Given the description of an element on the screen output the (x, y) to click on. 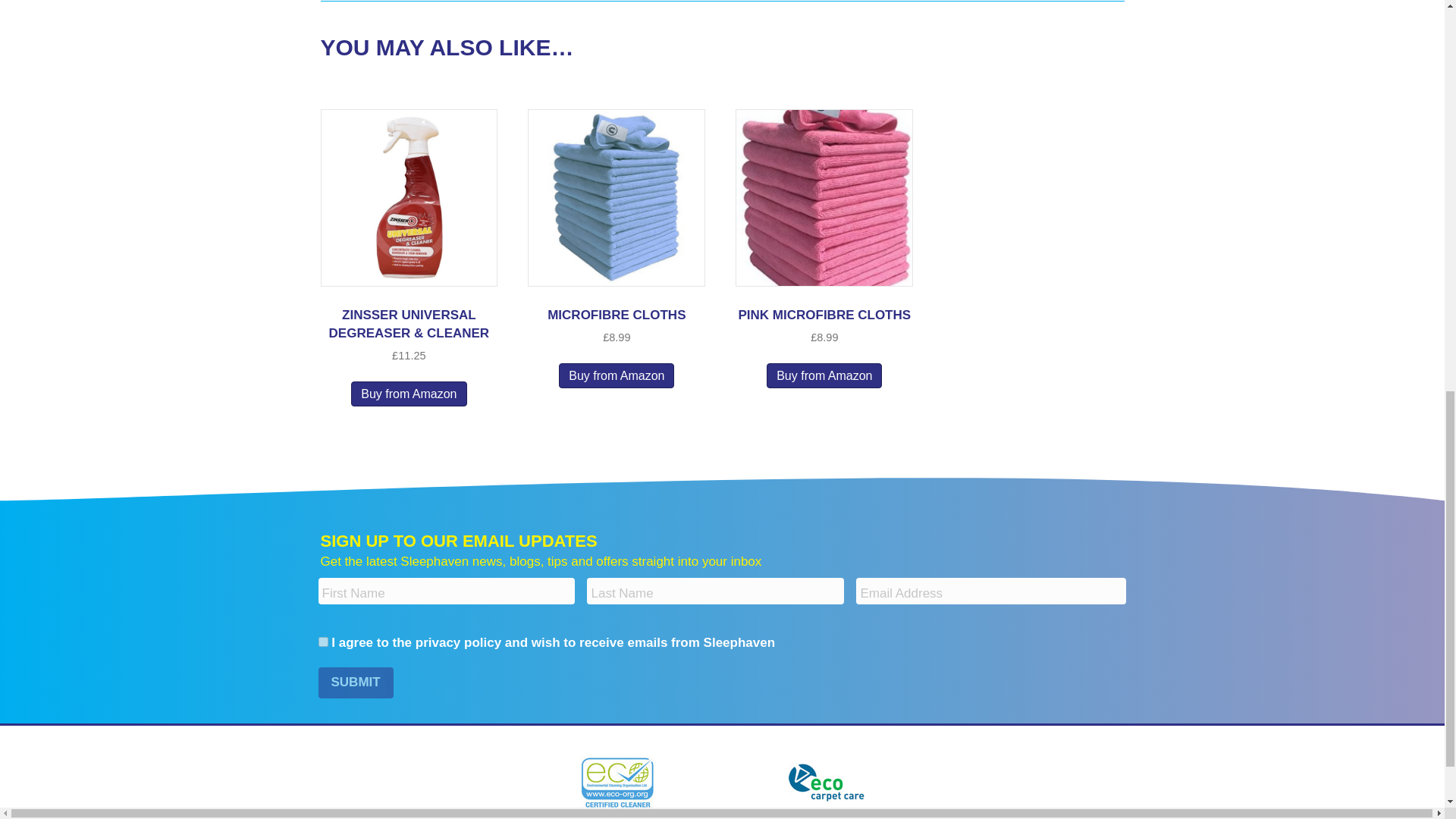
1 (323, 642)
ecocarpet (826, 781)
Submit (355, 682)
